Given the description of an element on the screen output the (x, y) to click on. 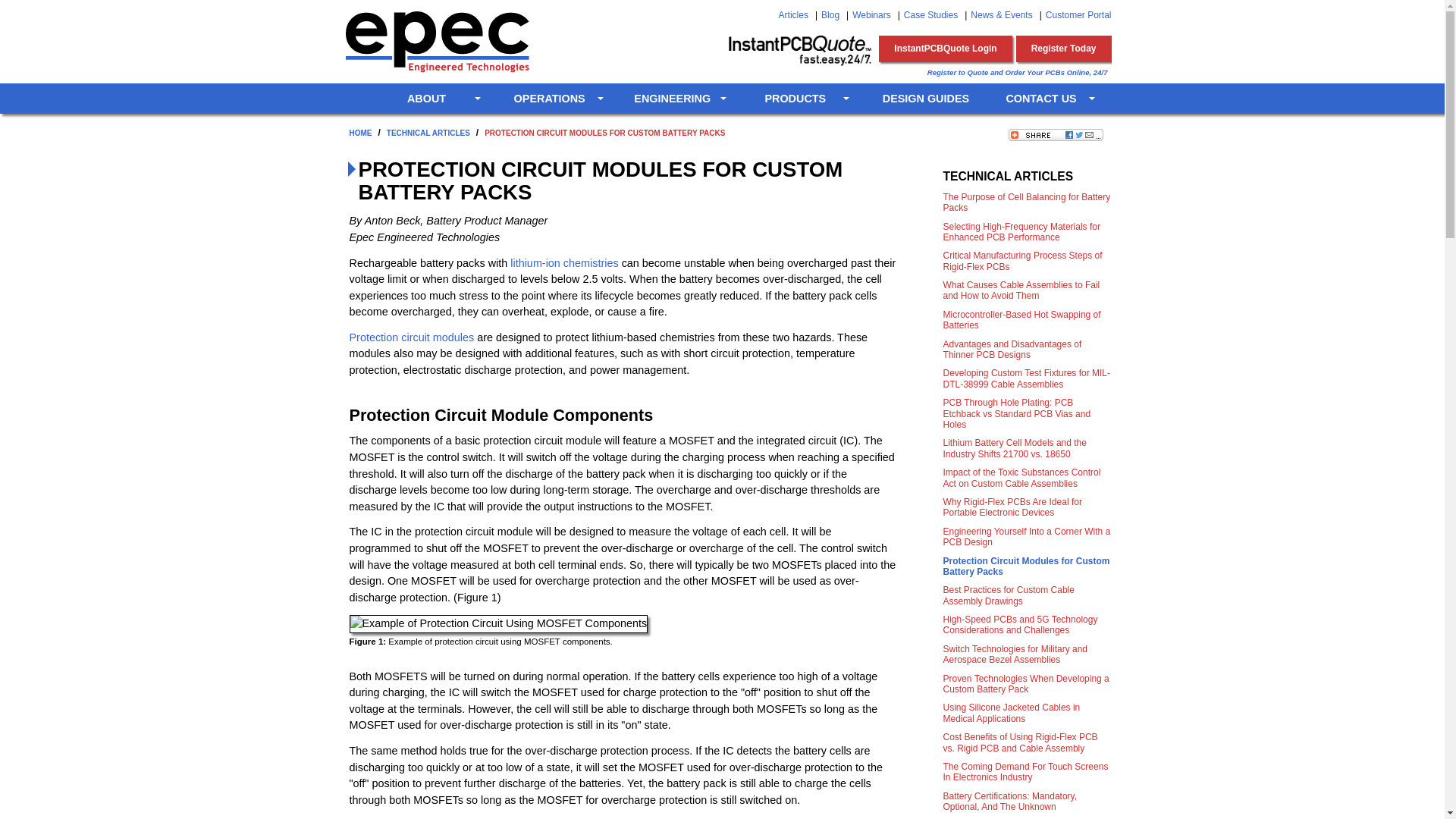
Webinars (870, 14)
InstantPCBQuote Login (945, 49)
Epec Engineered Technologies - Build to Print Electronics (435, 41)
Example of Protection Circuit Using MOSFET Components (498, 624)
ENGINEERING (679, 98)
Share, Bookmark or Email This Page (1056, 134)
Articles (793, 14)
Return to Home Page (352, 98)
Register for a FREE User Account (1064, 49)
PRODUCTS (802, 98)
